Given the description of an element on the screen output the (x, y) to click on. 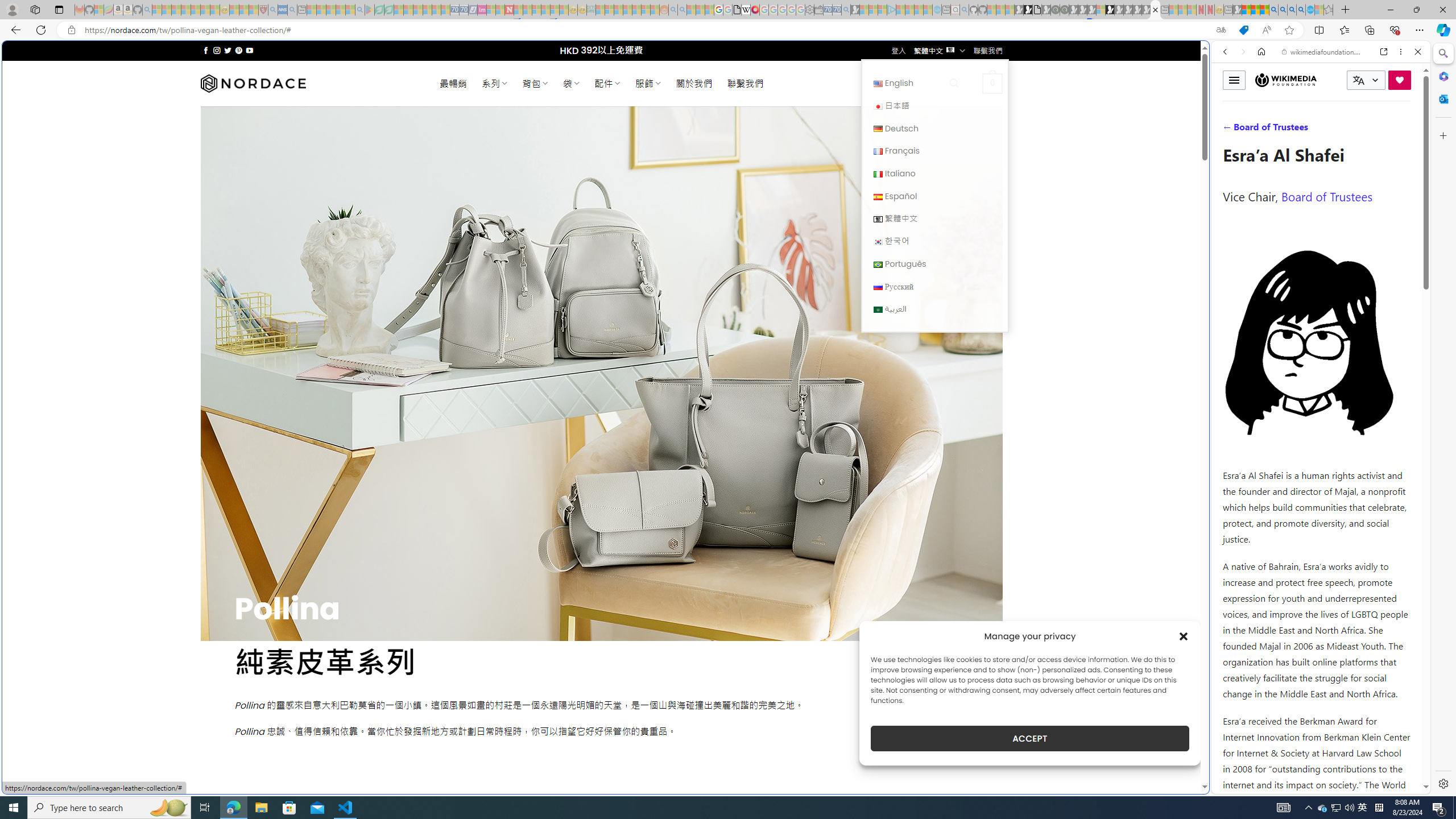
Follow on YouTube (249, 50)
Sign in to your account - Sleeping (1100, 9)
Deutsch Deutsch (934, 128)
